Given the description of an element on the screen output the (x, y) to click on. 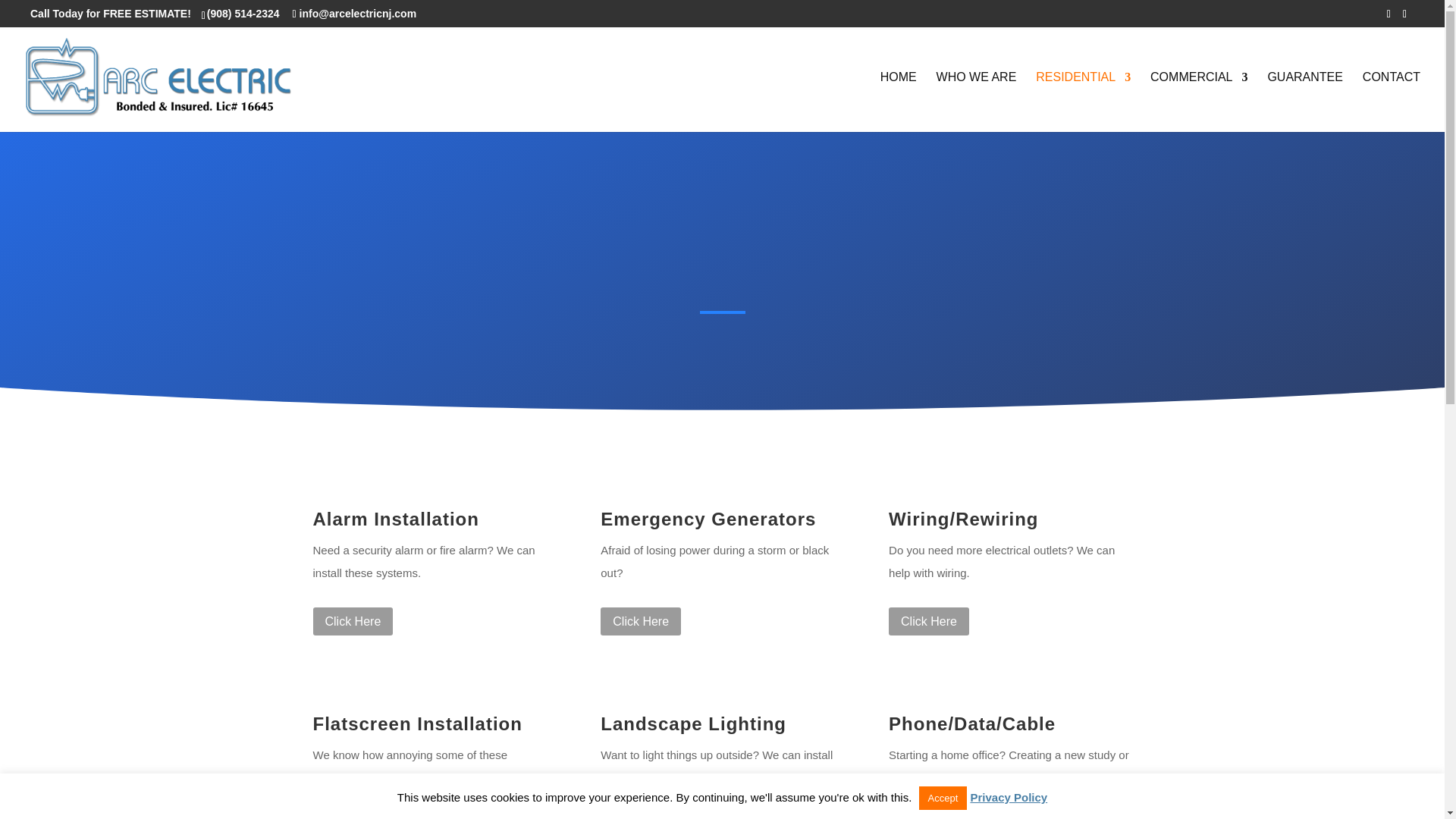
GUARANTEE (1304, 101)
CONTACT (1391, 101)
COMMERCIAL (1198, 101)
WHO WE ARE (976, 101)
RESIDENTIAL (1083, 101)
